Given the description of an element on the screen output the (x, y) to click on. 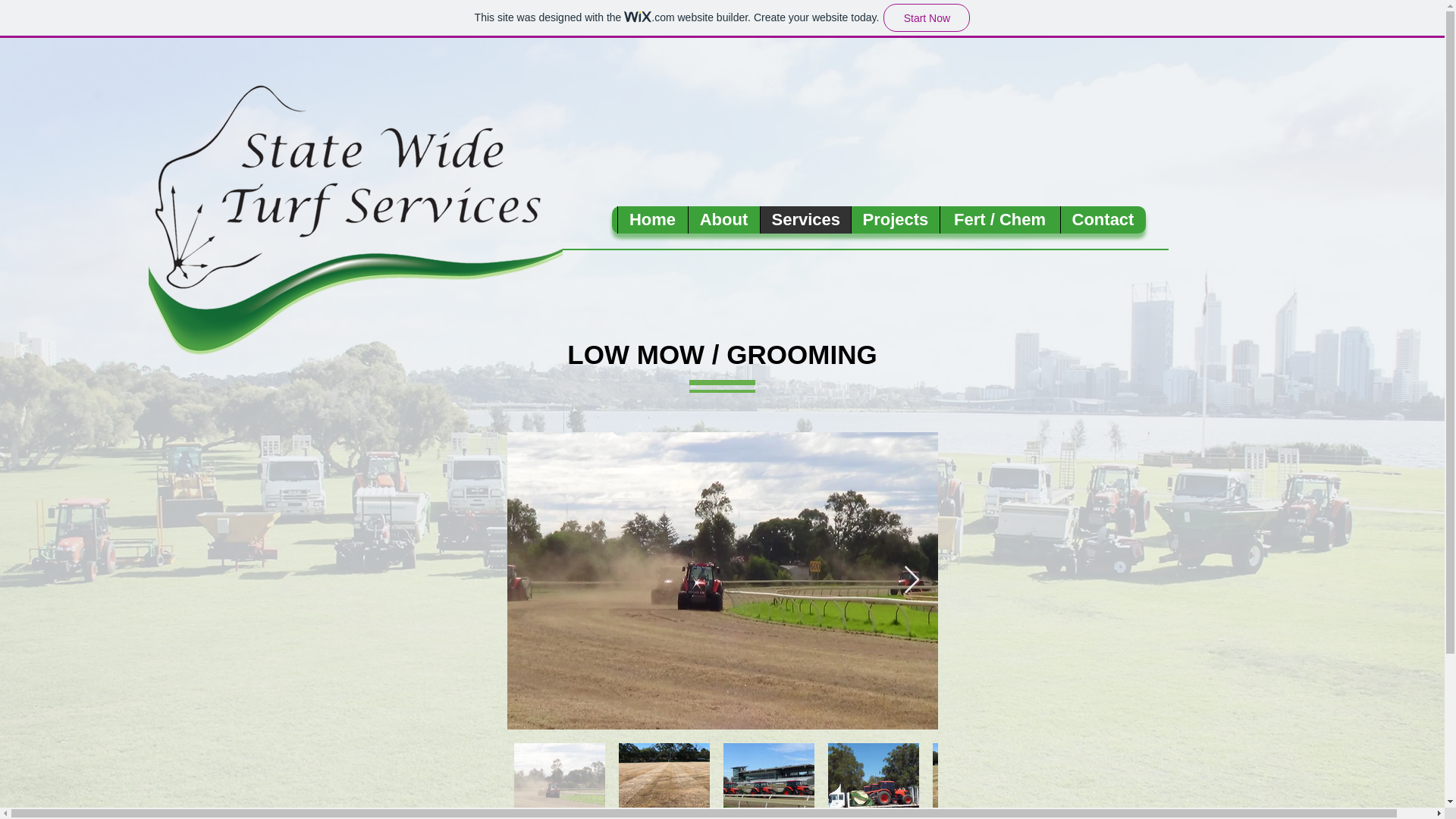
Home (652, 219)
Projects (894, 219)
Contact (1102, 219)
About (722, 219)
Services (805, 219)
